Given the description of an element on the screen output the (x, y) to click on. 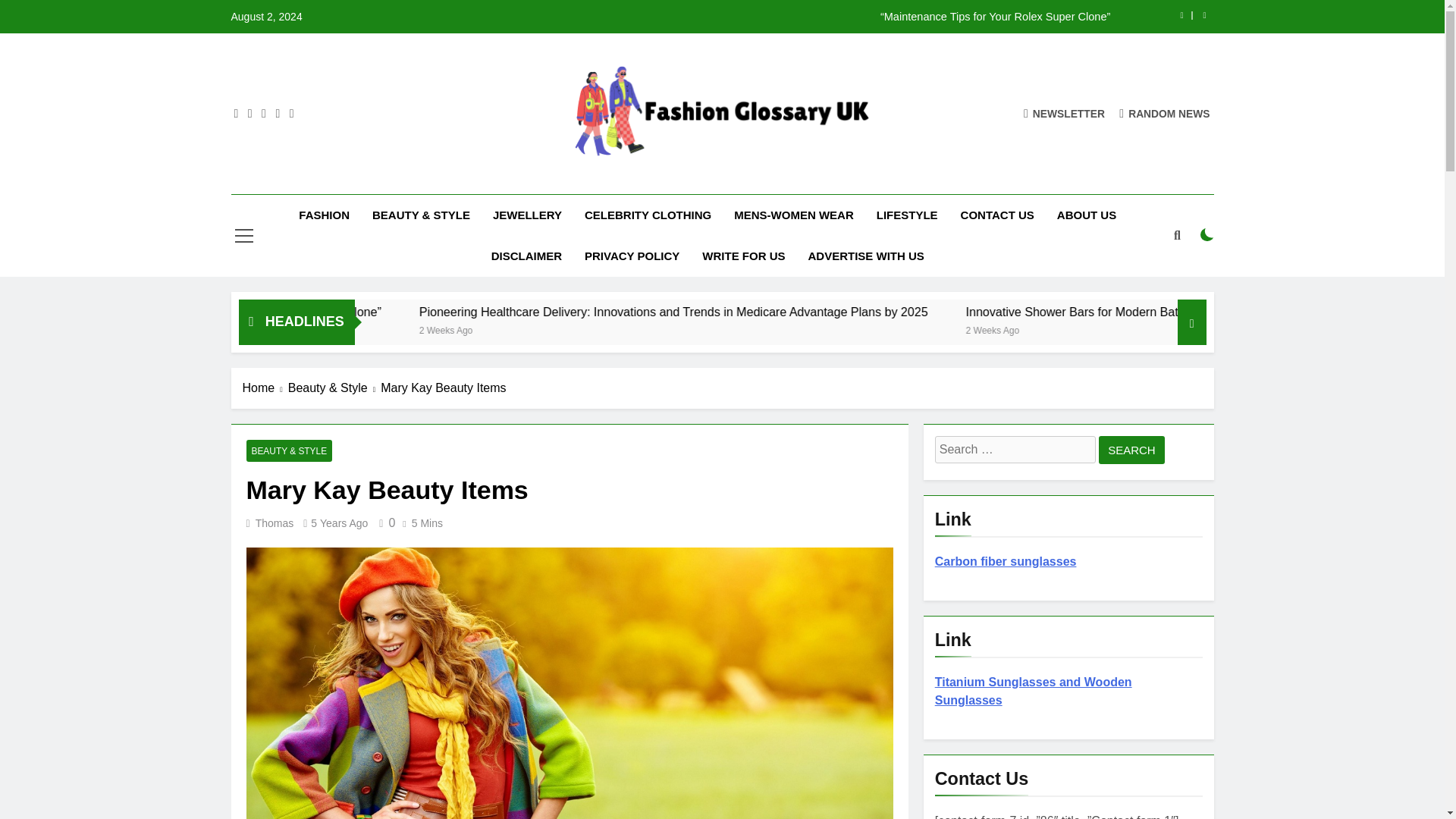
ABOUT US (1085, 214)
on (1206, 234)
CELEBRITY CLOTHING (647, 214)
JEWELLERY (527, 214)
LIFESTYLE (906, 214)
Search (1131, 449)
DISCLAIMER (526, 255)
2 Weeks Ago (332, 328)
RANDOM NEWS (1164, 113)
